Given the description of an element on the screen output the (x, y) to click on. 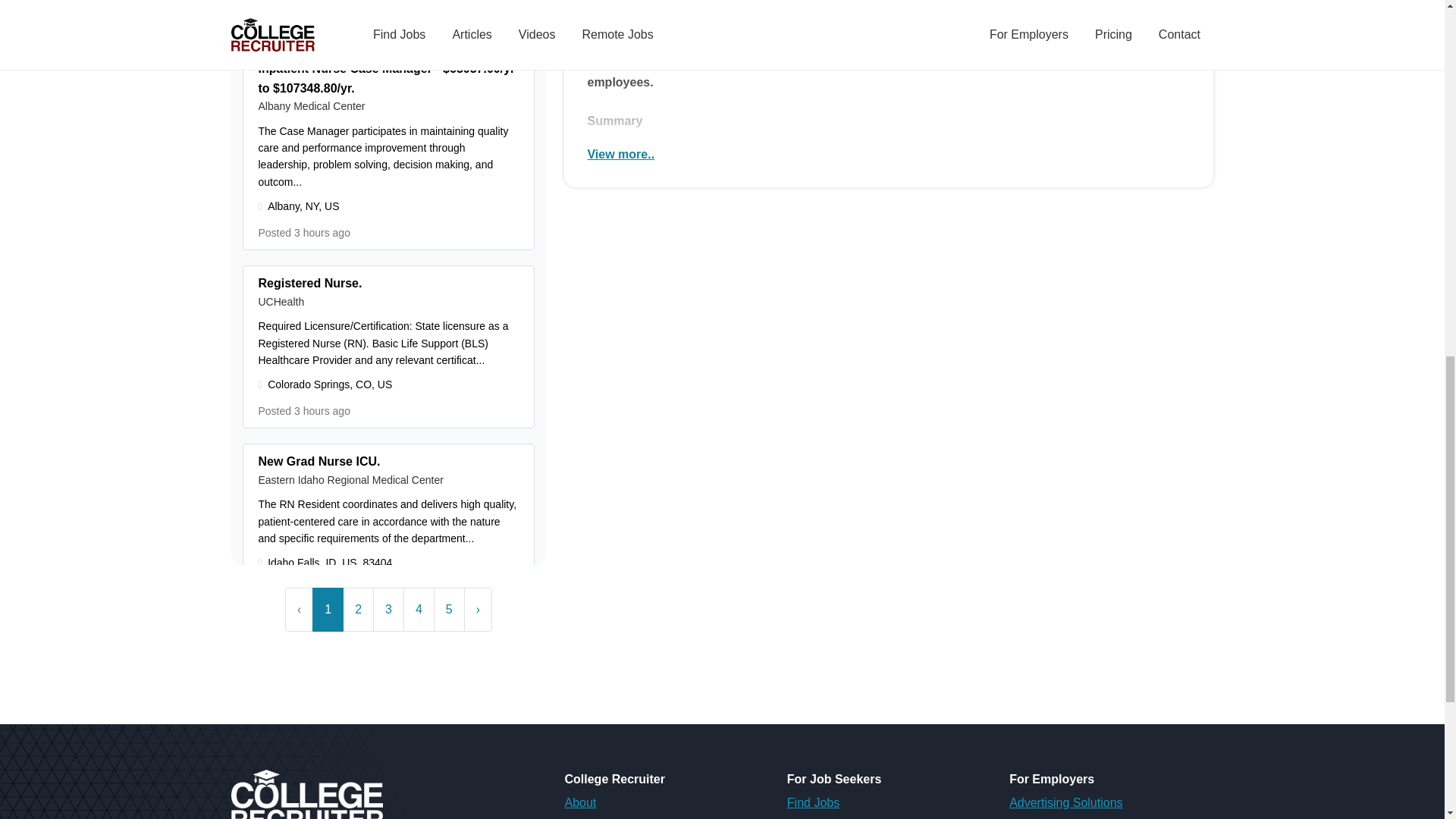
3 (388, 609)
4 (418, 609)
2 (358, 609)
5 (448, 609)
1 (328, 609)
